Given the description of an element on the screen output the (x, y) to click on. 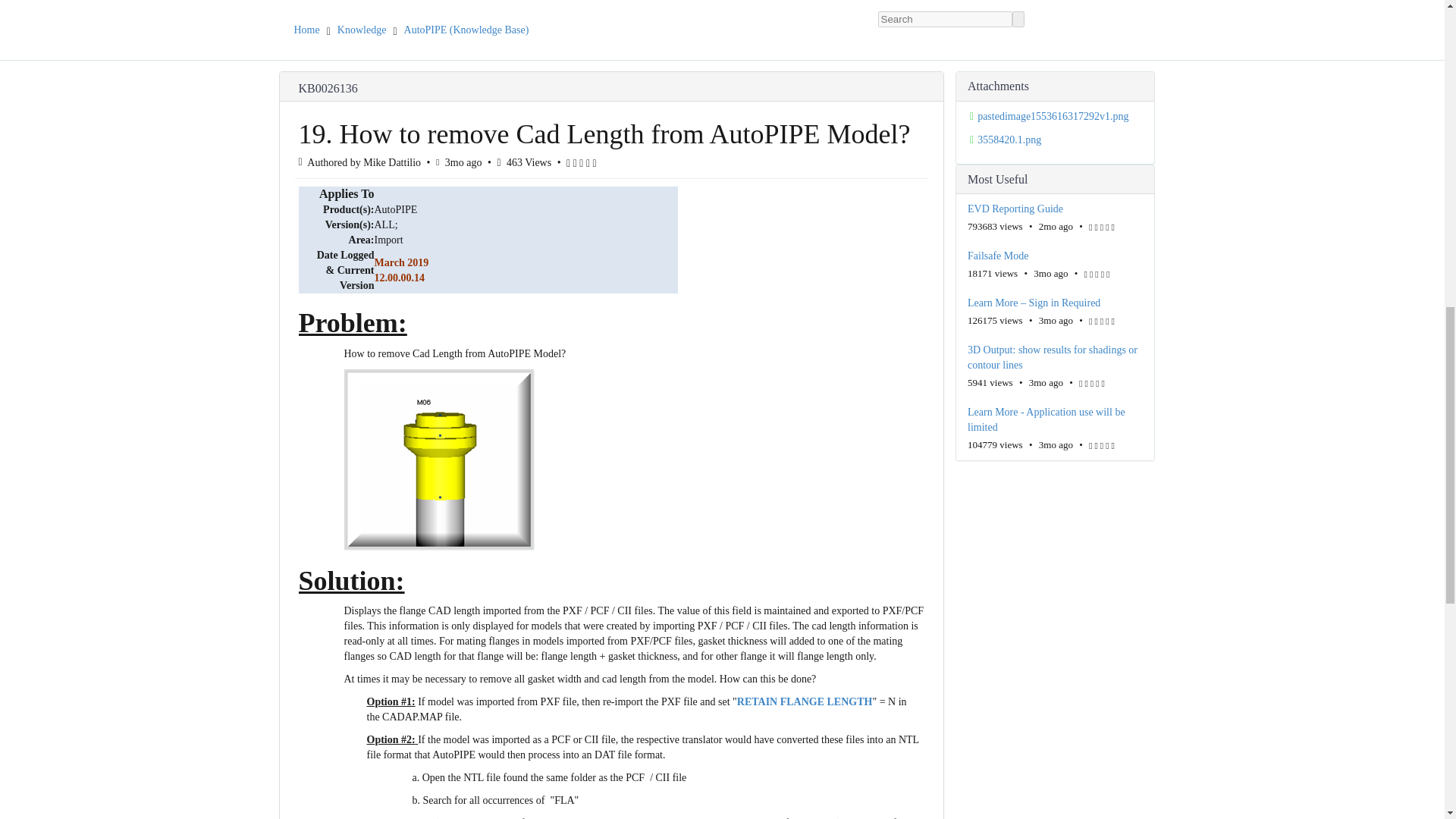
Home (307, 29)
